Given the description of an element on the screen output the (x, y) to click on. 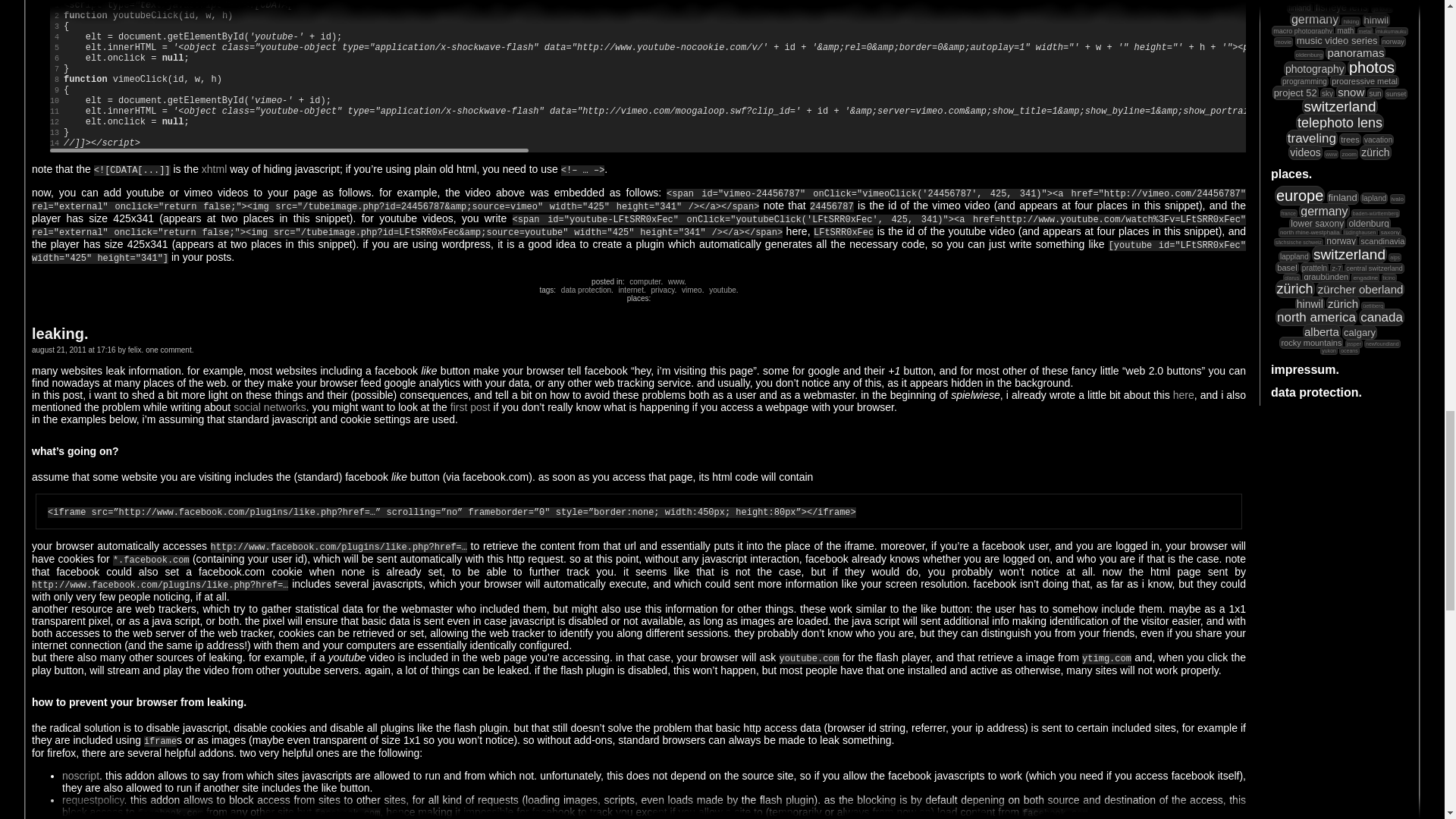
noscript (80, 775)
www (674, 281)
vimeo (689, 289)
leaking. (59, 333)
social networks (268, 407)
data protection (584, 289)
privacy (660, 289)
youtube (721, 289)
here (1183, 395)
xhtml (214, 168)
internet (629, 289)
requestpolicy (92, 799)
first post (469, 407)
computer (643, 281)
